Given the description of an element on the screen output the (x, y) to click on. 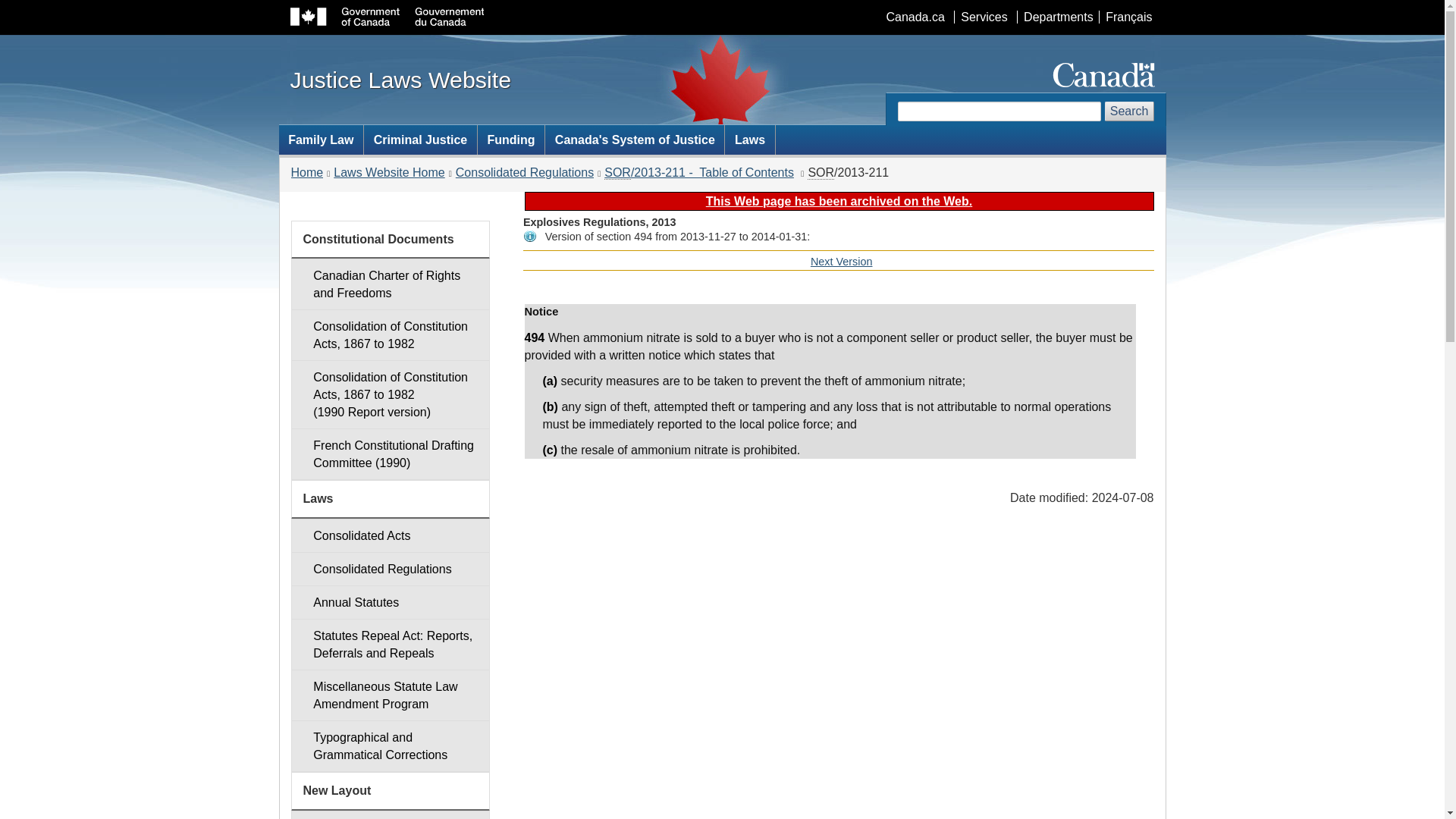
Canada.ca (914, 16)
Typographical and Grammatical Corrections (390, 746)
Laws (749, 139)
Statutory Orders and Regulations (821, 172)
New Layout for Legislation (390, 814)
Annual Statutes (390, 602)
This Web page has been archived on the Web. (839, 201)
Consolidated Acts (390, 535)
Canadian Charter of Rights and Freedoms (390, 284)
Justice Laws Website (400, 79)
Miscellaneous Statute Law Amendment Program (390, 695)
Laws Website Home (388, 172)
Funding (841, 261)
Criminal Justice (510, 139)
